Given the description of an element on the screen output the (x, y) to click on. 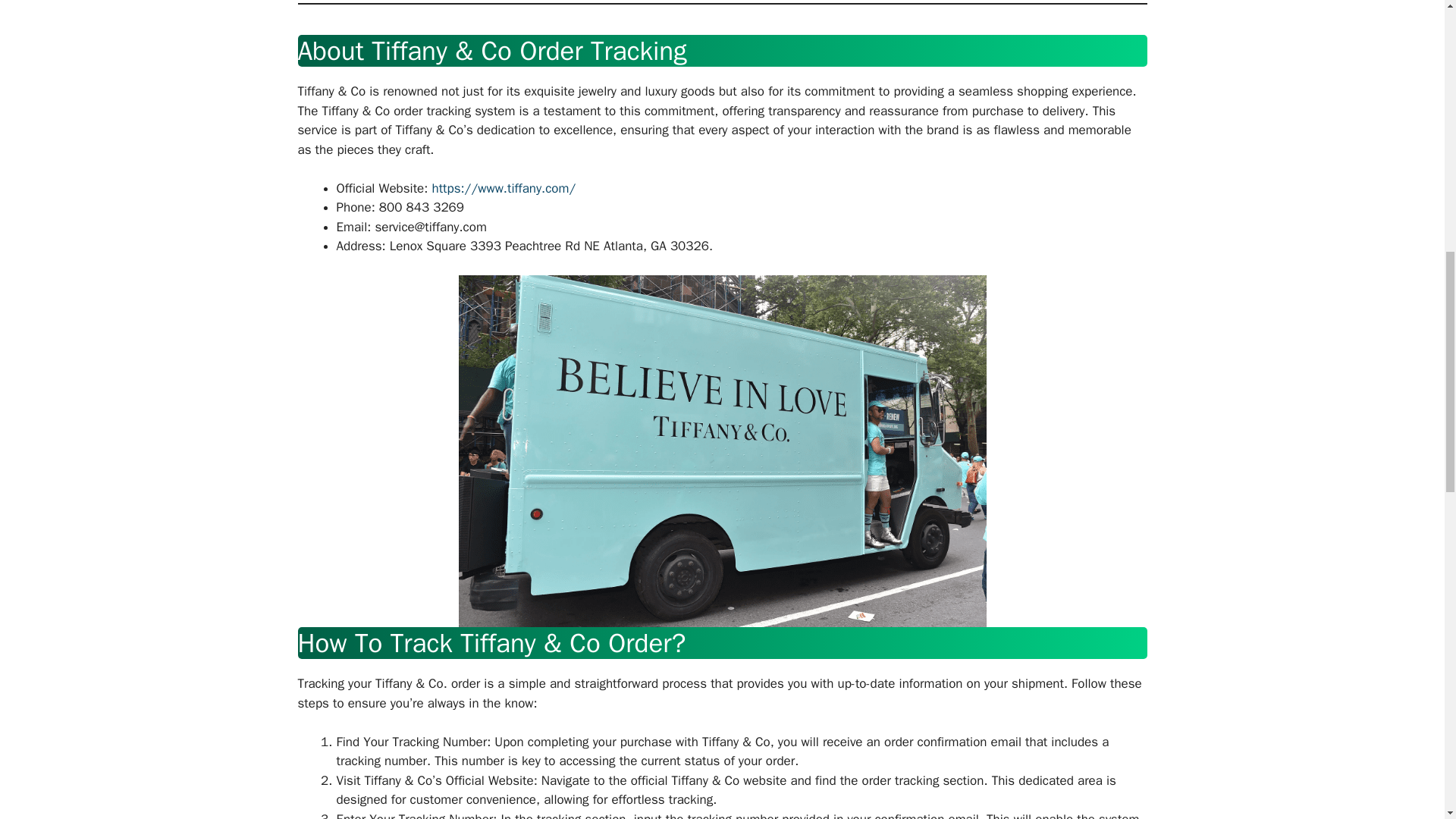
Scroll back to top (1406, 720)
